Given the description of an element on the screen output the (x, y) to click on. 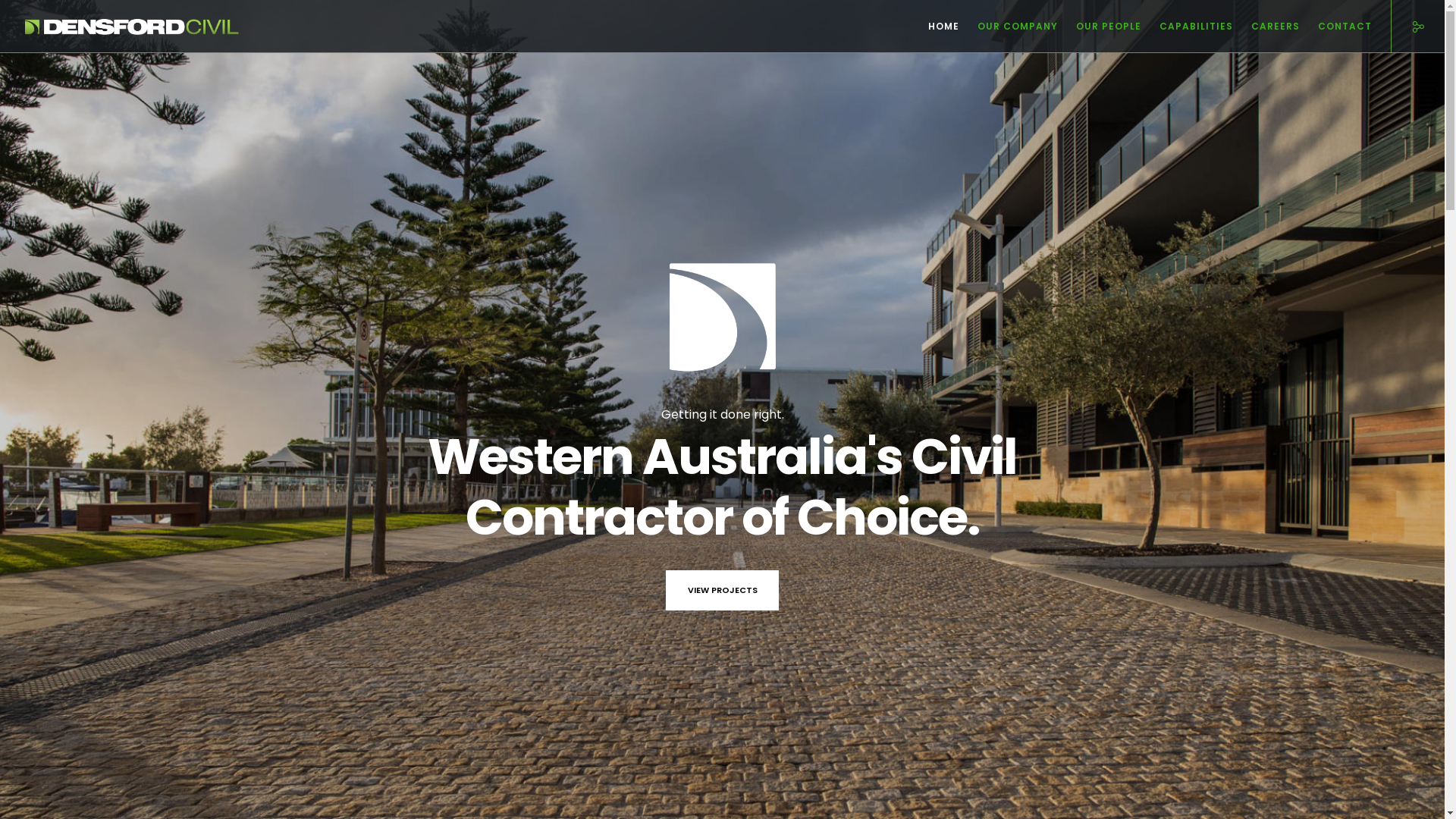
HOME Element type: text (934, 26)
OUR PEOPLE Element type: text (1099, 26)
VIEW PROJECTS Element type: text (722, 590)
OUR COMPANY Element type: text (1008, 26)
CAREERS Element type: text (1266, 26)
CAPABILITIES Element type: text (1187, 26)
CONTACT Element type: text (1335, 26)
